Given the description of an element on the screen output the (x, y) to click on. 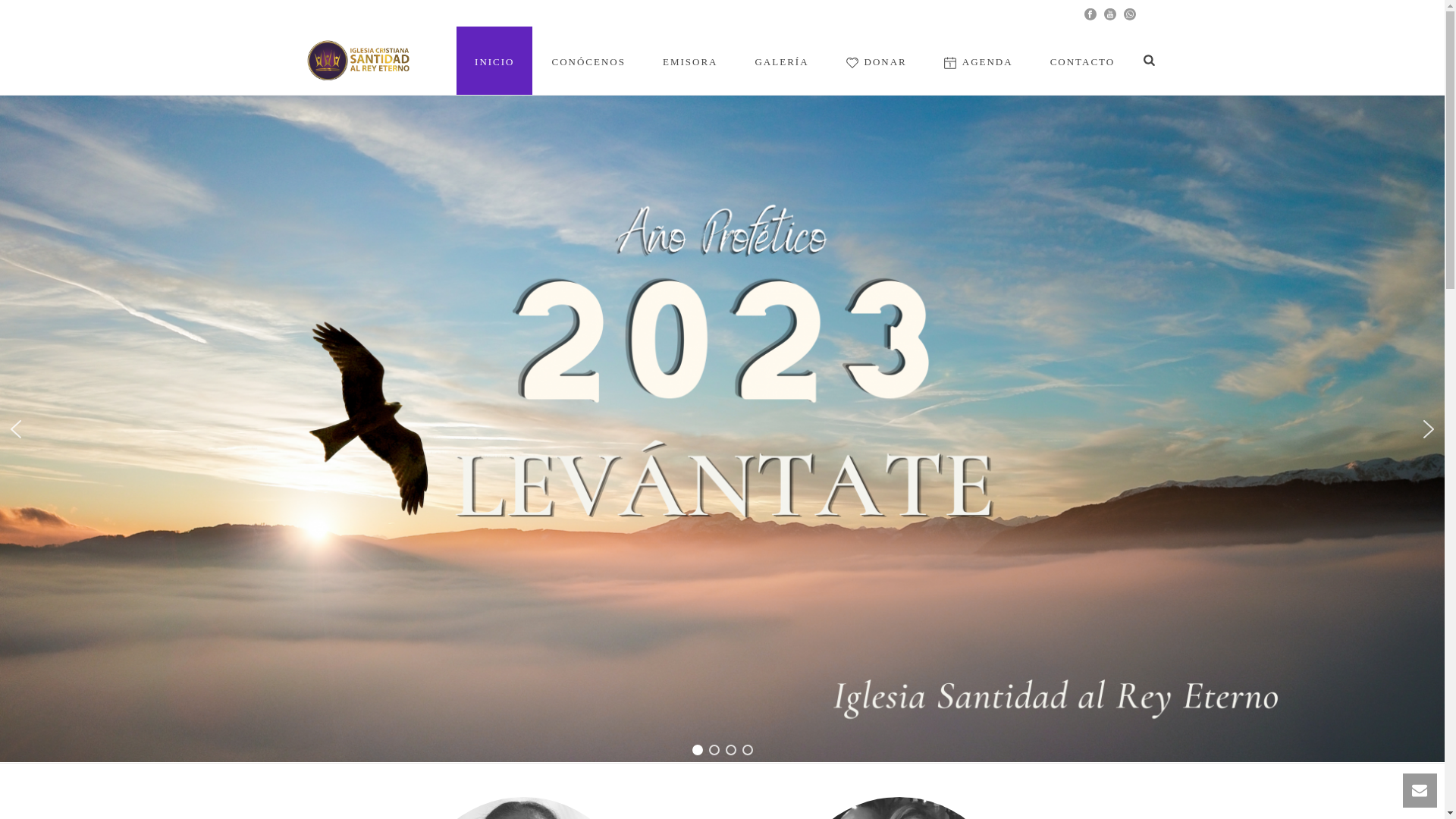
DONAR (876, 60)
AGENDA (978, 60)
INICIO (494, 60)
Antonia Campo R (522, 807)
Una iglesia que proclama el evangelio (361, 60)
EMISORA (690, 60)
CONTACTO (1083, 60)
Jose Ariel y Blanca Luz (898, 807)
CONTACTO (1083, 60)
AGENDA (978, 60)
DONAR (876, 60)
EMISORA (690, 60)
INICIO (494, 60)
